Given the description of an element on the screen output the (x, y) to click on. 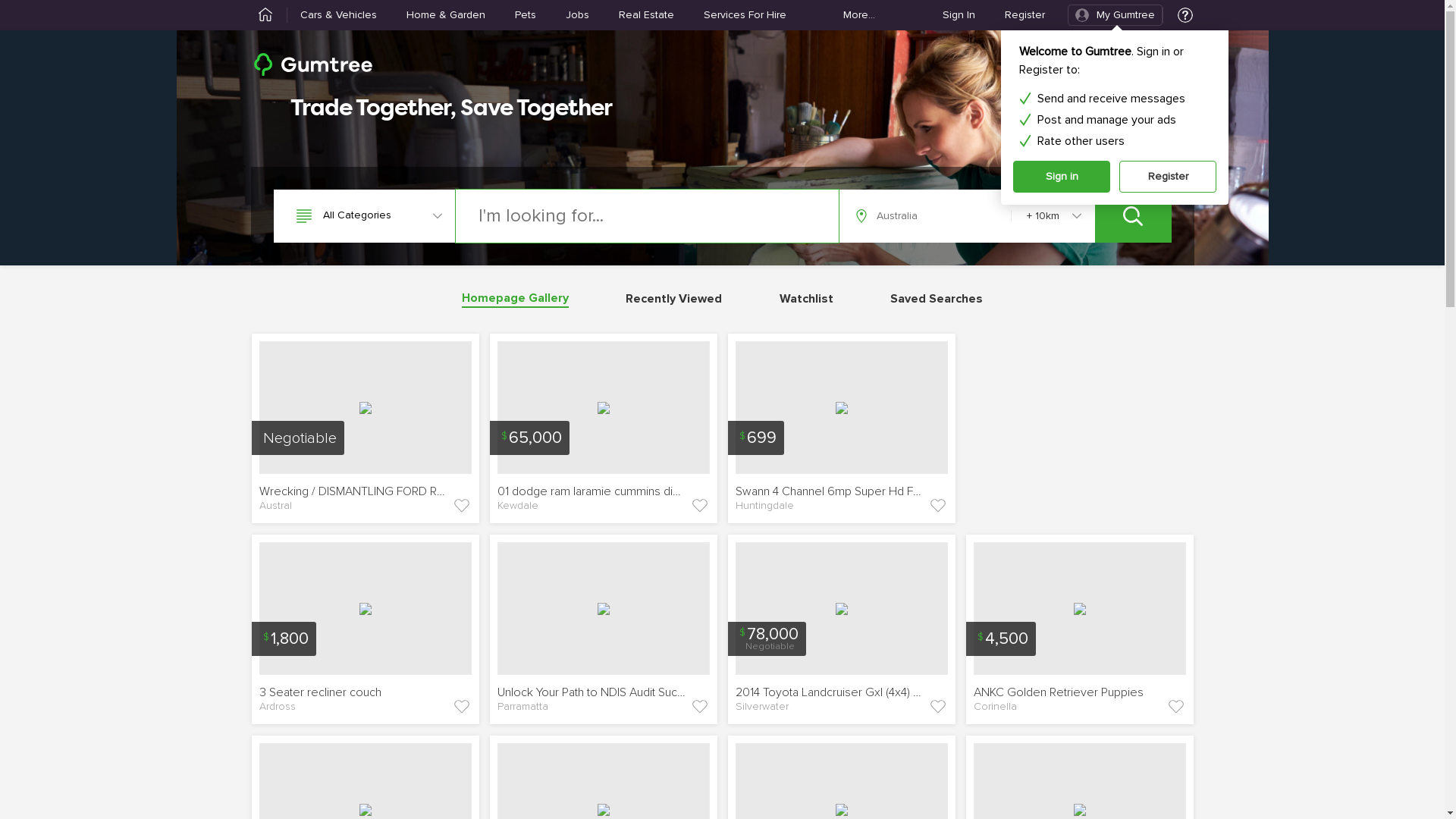
Pets Element type: text (524, 14)
Real Estate Element type: text (646, 14)
Add to watchlist Element type: text (698, 706)
More... Element type: text (859, 15)
Add to watchlist Element type: text (698, 505)
Home & Garden Element type: text (445, 14)
Watchlist Element type: text (806, 299)
Add to watchlist Element type: text (460, 706)
Post an ad Element type: text (1140, 64)
Register Element type: text (1023, 15)
Sign In Element type: text (957, 15)
Add to watchlist Element type: text (460, 505)
Sign in Element type: text (1061, 176)
Add to watchlist Element type: text (936, 706)
Services For Hire Element type: text (744, 14)
Recently Viewed Element type: text (673, 299)
Saved Searches Element type: text (936, 299)
Homepage Gallery Element type: text (514, 299)
Add to watchlist Element type: text (936, 505)
Jobs Element type: text (577, 14)
Register Element type: text (1167, 176)
Add to watchlist Element type: text (1175, 706)
Cars & Vehicles Element type: text (338, 14)
